Given the description of an element on the screen output the (x, y) to click on. 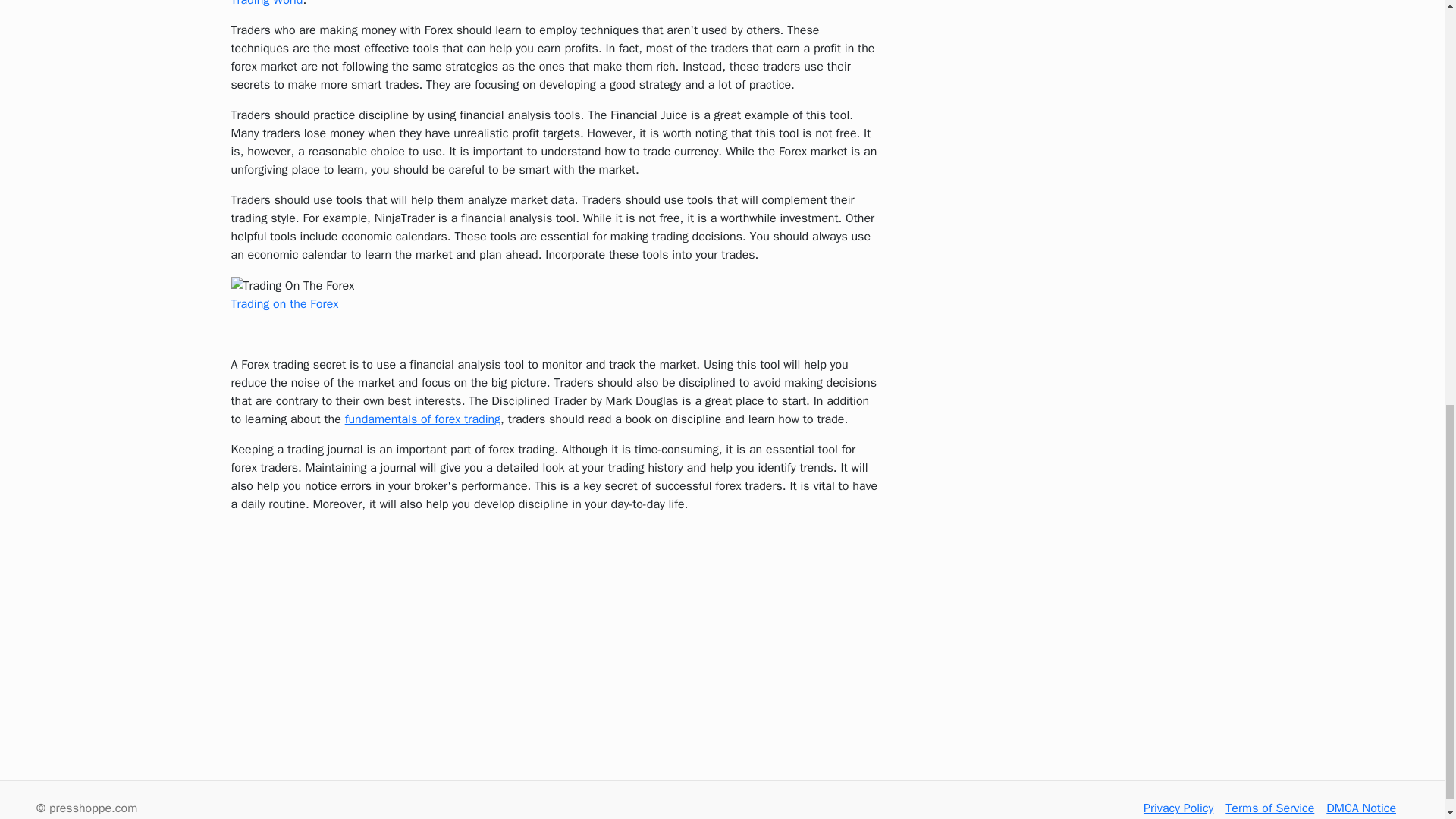
Trading on the Forex (283, 304)
DMCA Notice (1361, 807)
Privacy Policy (1177, 807)
fundamentals of forex trading (422, 418)
Forex Trading World (521, 3)
Terms of Service (1269, 807)
